Given the description of an element on the screen output the (x, y) to click on. 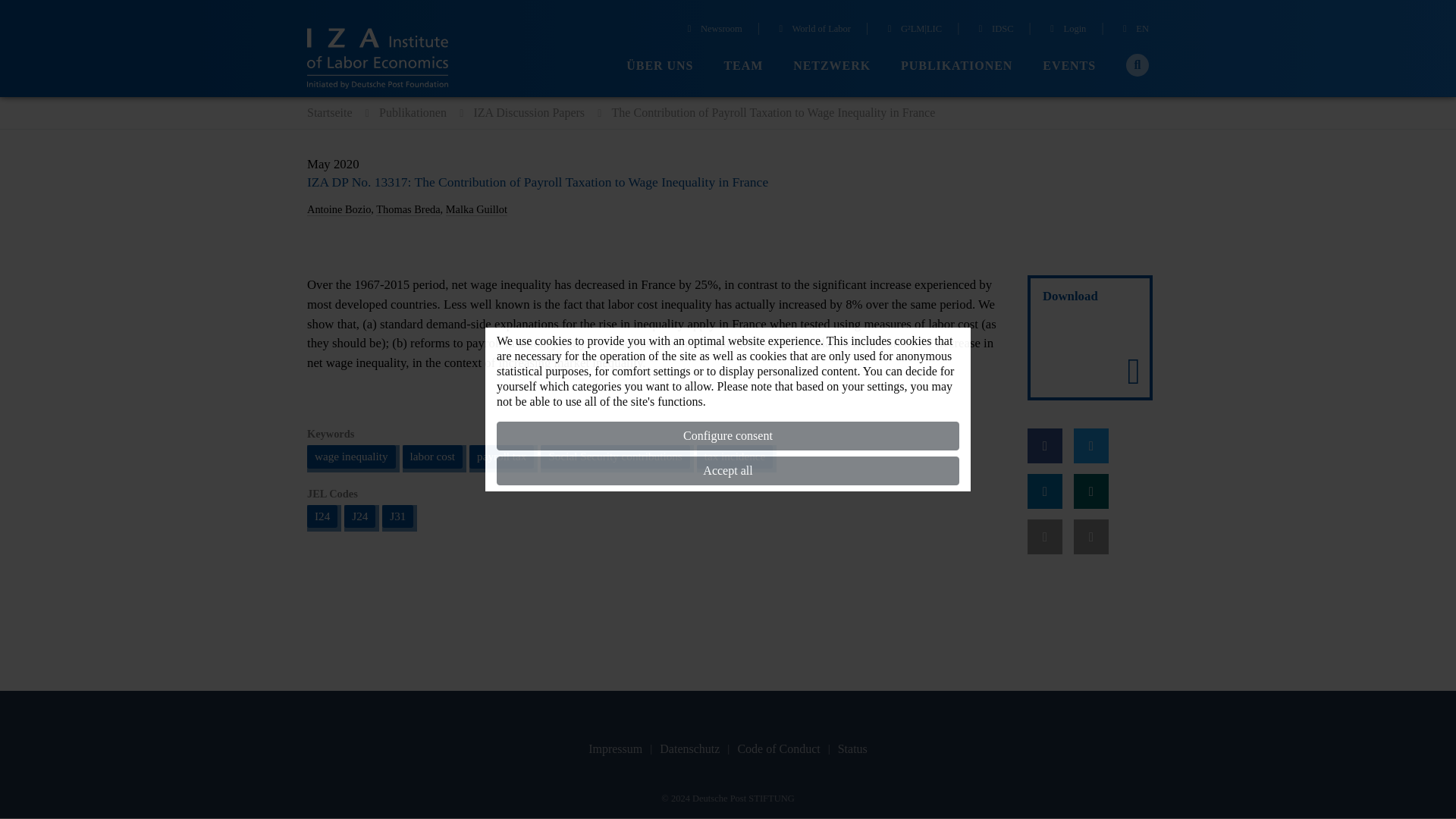
Newsroom (712, 30)
TEAM (742, 66)
NETZWERK (831, 66)
EN (1133, 30)
Login (1066, 30)
IDSC (993, 30)
EVENTS (1069, 66)
PUBLIKATIONEN (956, 66)
World of Labor (812, 30)
